Given the description of an element on the screen output the (x, y) to click on. 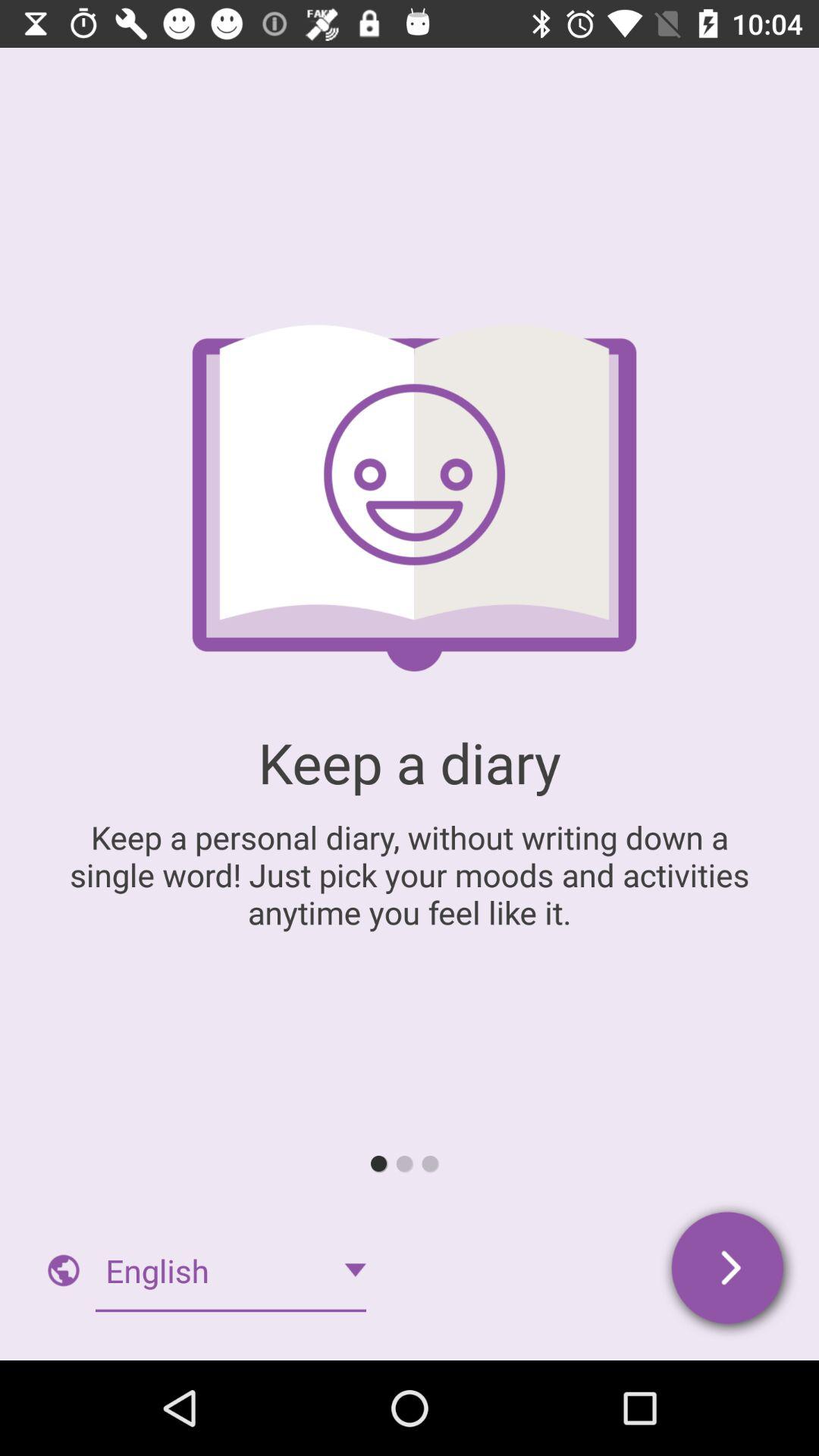
select the image (63, 1270)
